Given the description of an element on the screen output the (x, y) to click on. 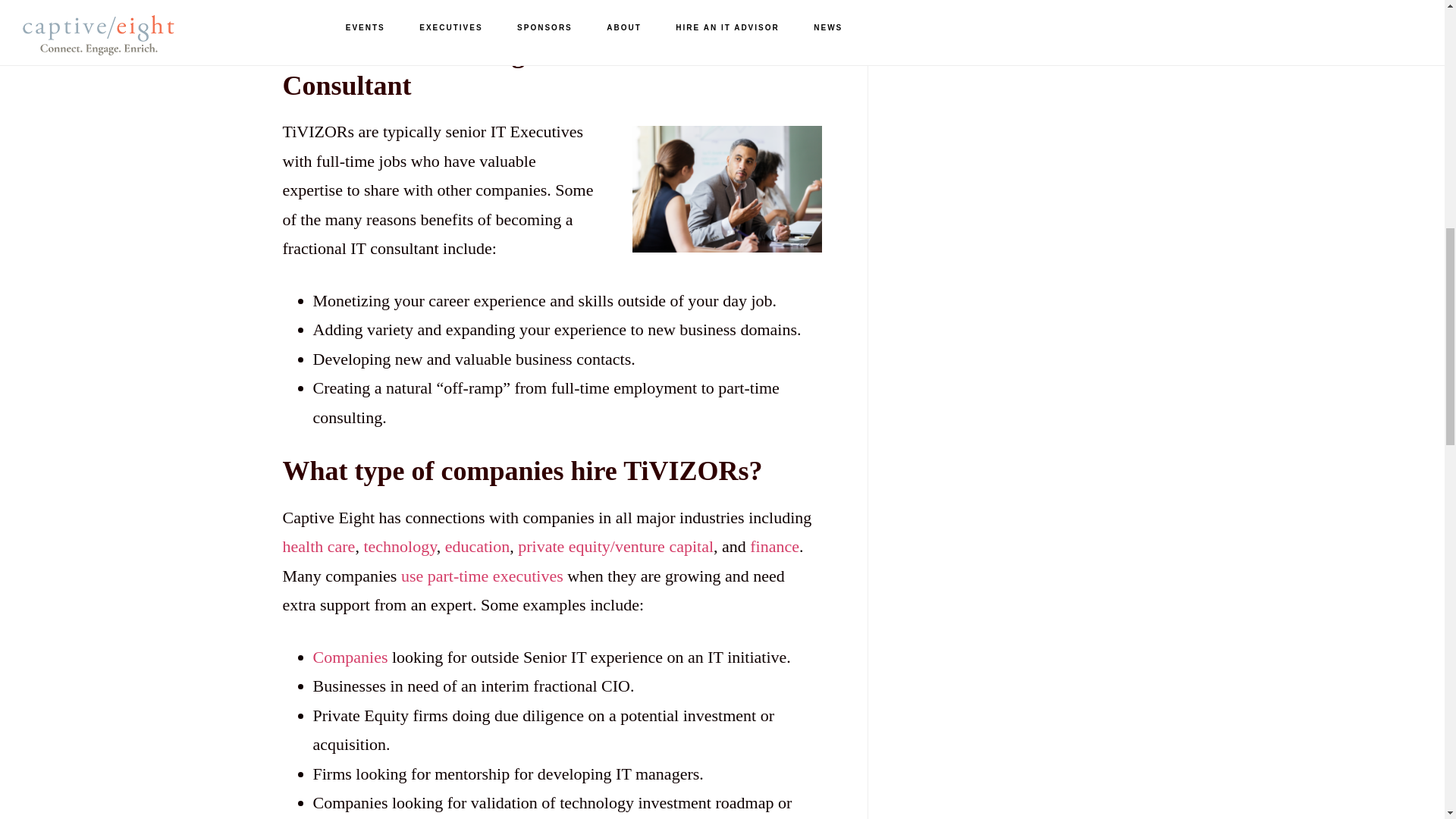
Companies (350, 656)
use part-time executives (482, 575)
technology (398, 546)
health care (318, 546)
finance (774, 546)
education (478, 546)
